Given the description of an element on the screen output the (x, y) to click on. 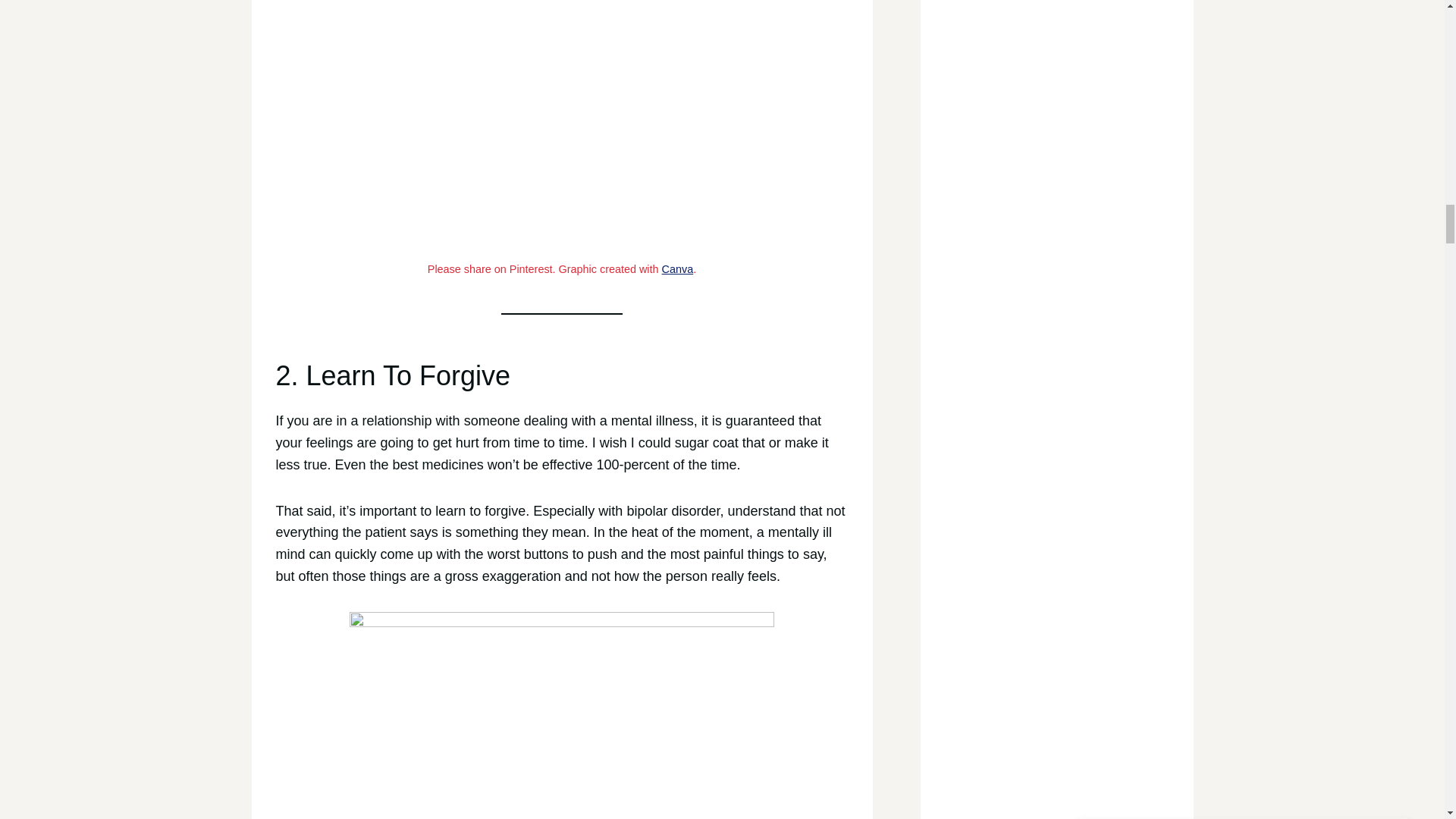
Canva (678, 268)
